Given the description of an element on the screen output the (x, y) to click on. 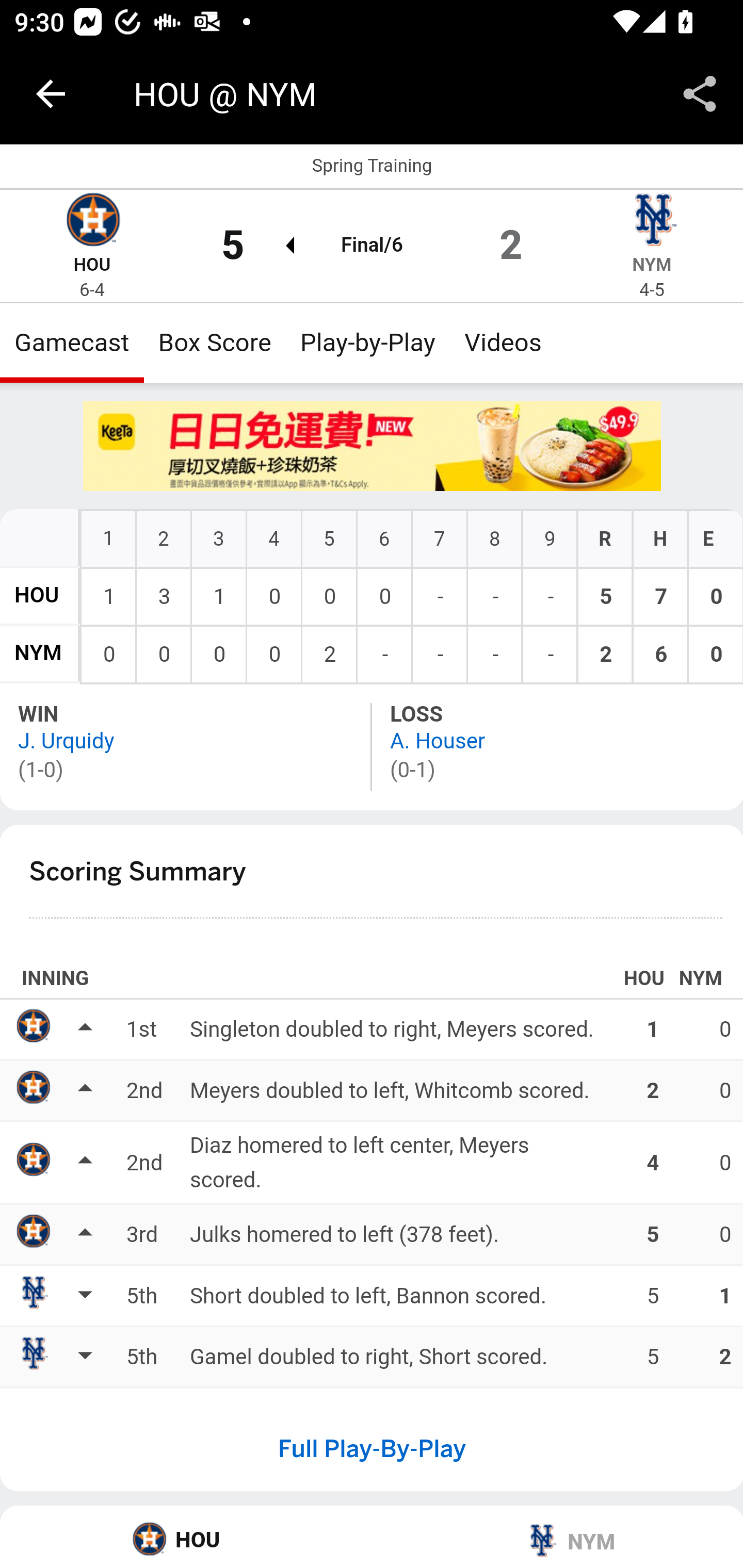
Navigate up (50, 93)
Share (699, 93)
Houston Astros (91, 221)
New York Mets (651, 221)
HOU (92, 264)
NYM (652, 264)
Gamecast (72, 342)
Box Score (214, 342)
Play-by-Play (368, 342)
Videos (502, 342)
HOU (36, 595)
NYM (38, 653)
WIN J. Urquidy (1-0) WIN J. Urquidy (1-0) (186, 746)
LOSS A. Houser (0-1) LOSS A. Houser (0-1) (557, 746)
Full Play-By-Play (371, 1448)
HOU (186, 1536)
NYM (557, 1536)
